Given the description of an element on the screen output the (x, y) to click on. 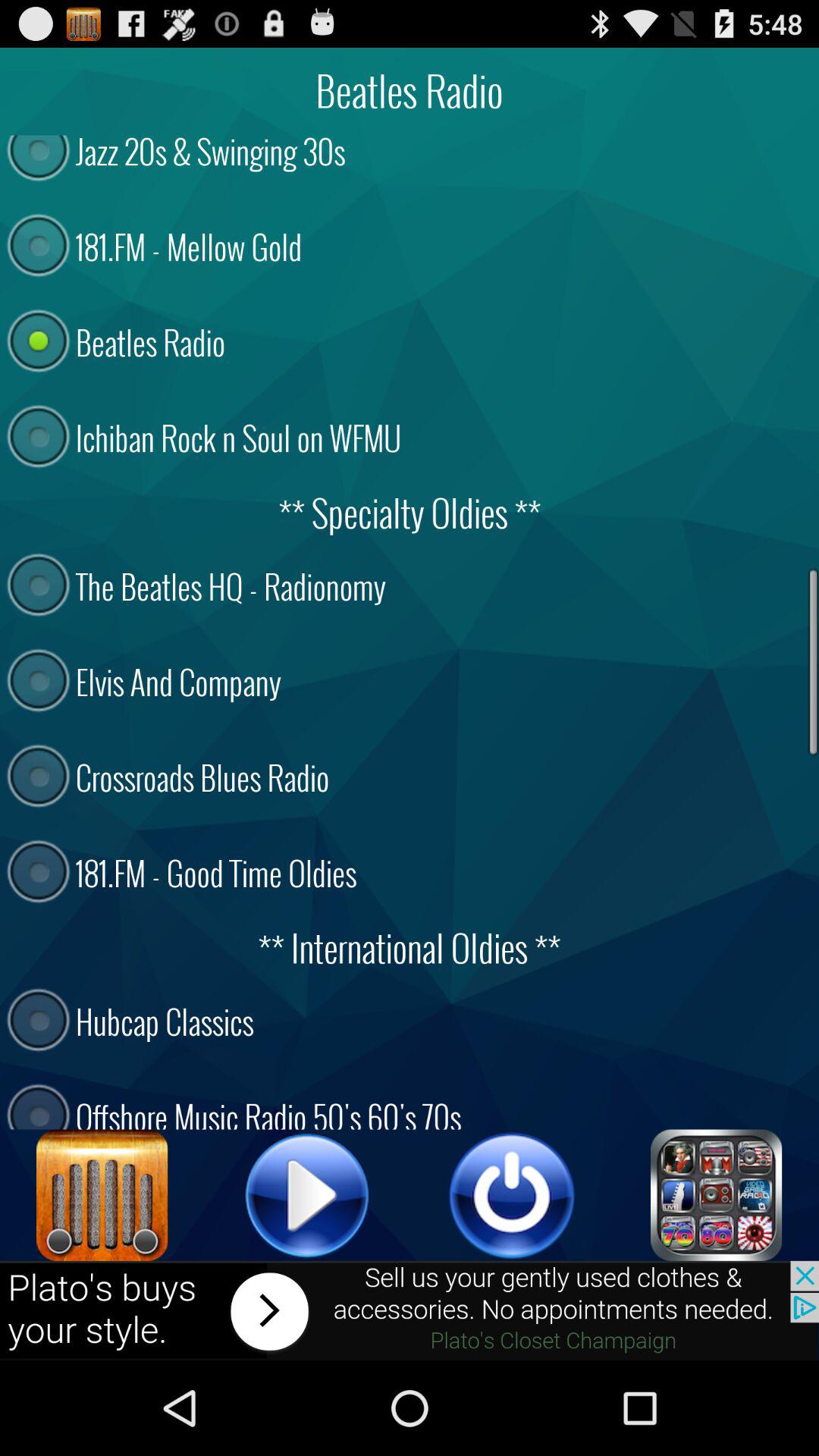
move (409, 1310)
